Given the description of an element on the screen output the (x, y) to click on. 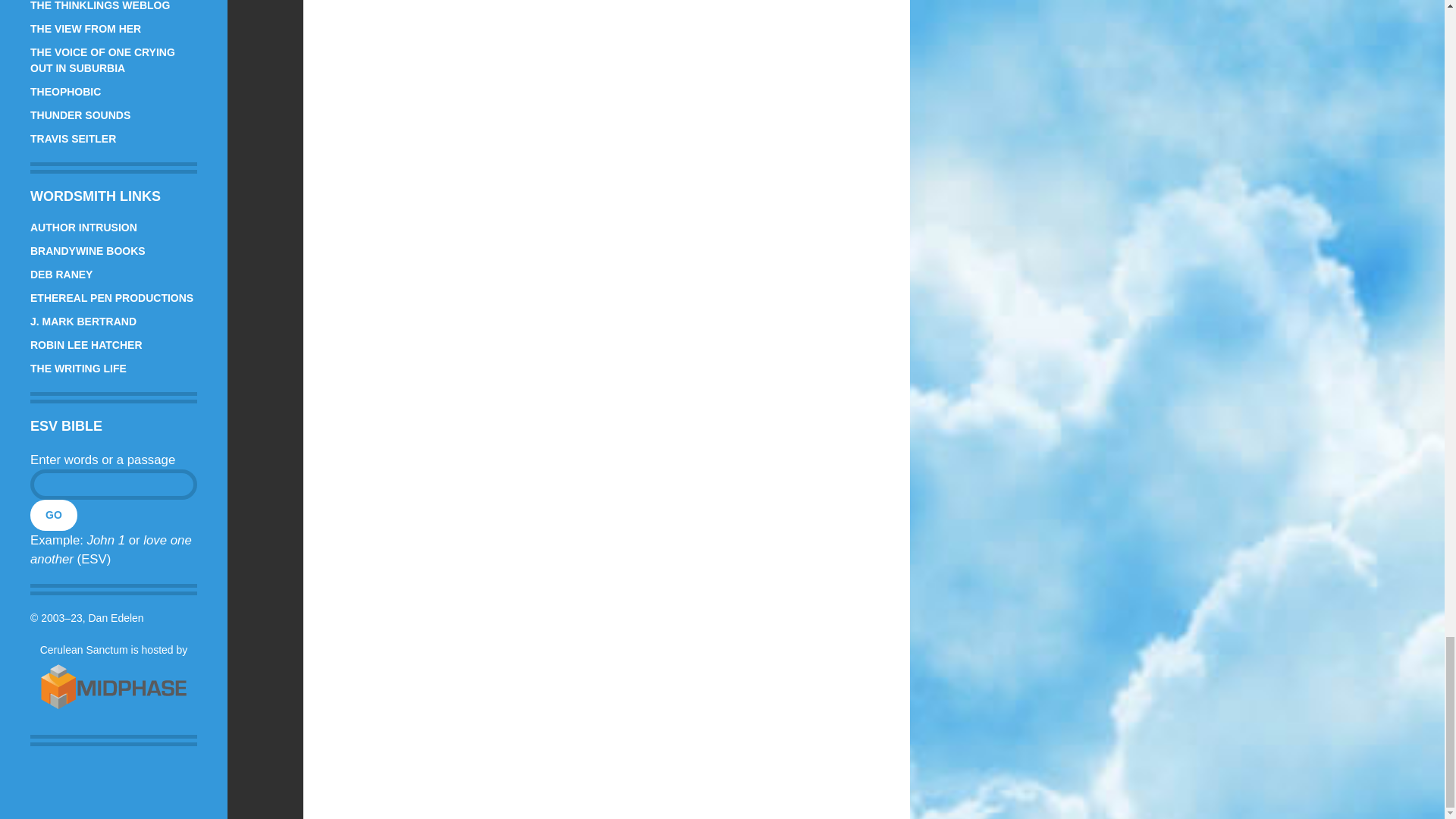
Go (53, 514)
